Given the description of an element on the screen output the (x, y) to click on. 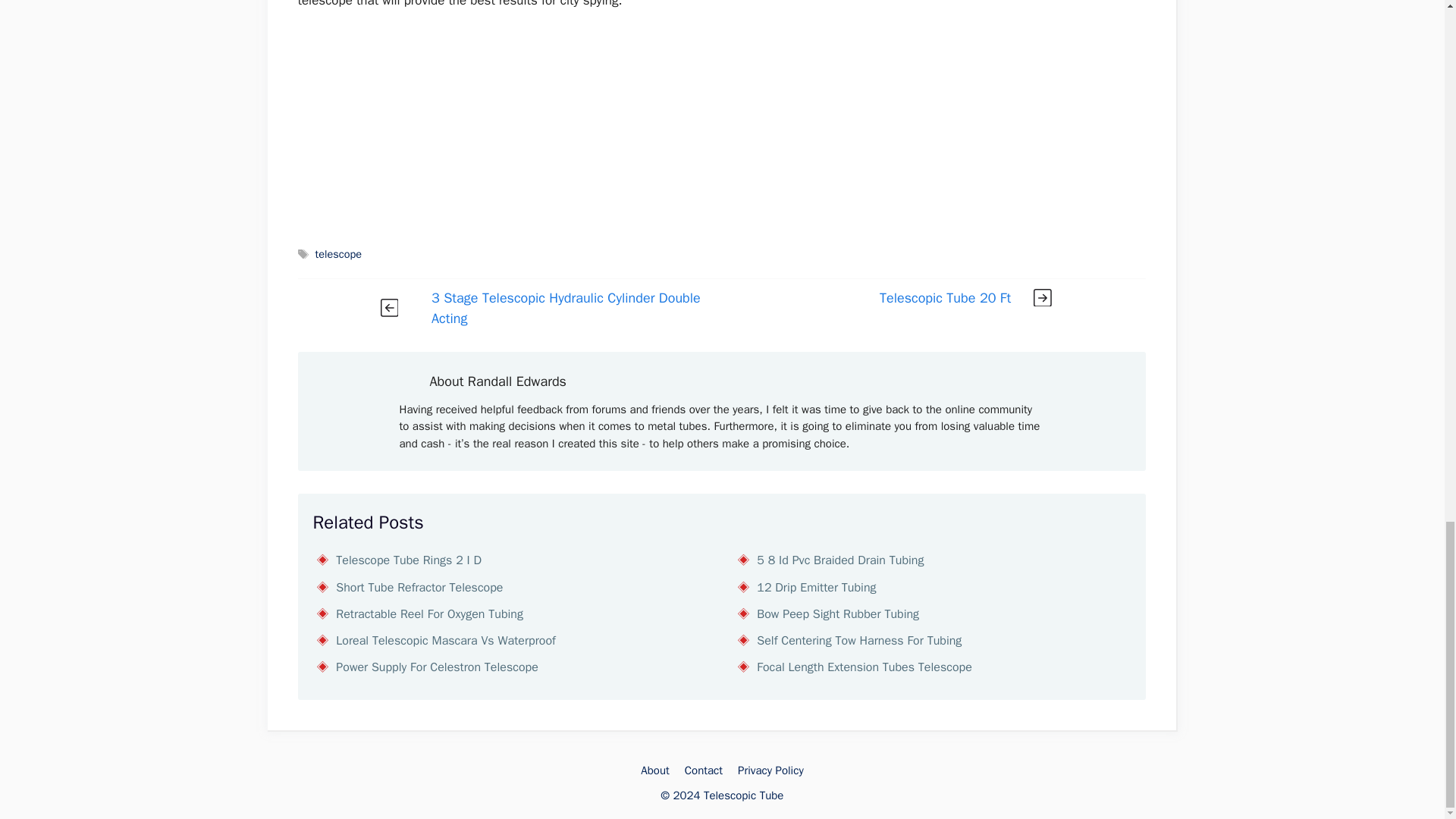
3 Stage Telescopic Hydraulic Cylinder Double Acting (565, 307)
Privacy Policy (770, 770)
Scroll back to top (1406, 75)
Telescope Tube Rings 2 I D (408, 560)
Retractable Reel For Oxygen Tubing (429, 613)
Short Tube Refractor Telescope (419, 587)
Telescopic Tube 20 Ft (944, 297)
5 8 Id Pvc Braided Drain Tubing (840, 560)
Bow Peep Sight Rubber Tubing (837, 613)
Loreal Telescopic Mascara Vs Waterproof (446, 640)
